Given the description of an element on the screen output the (x, y) to click on. 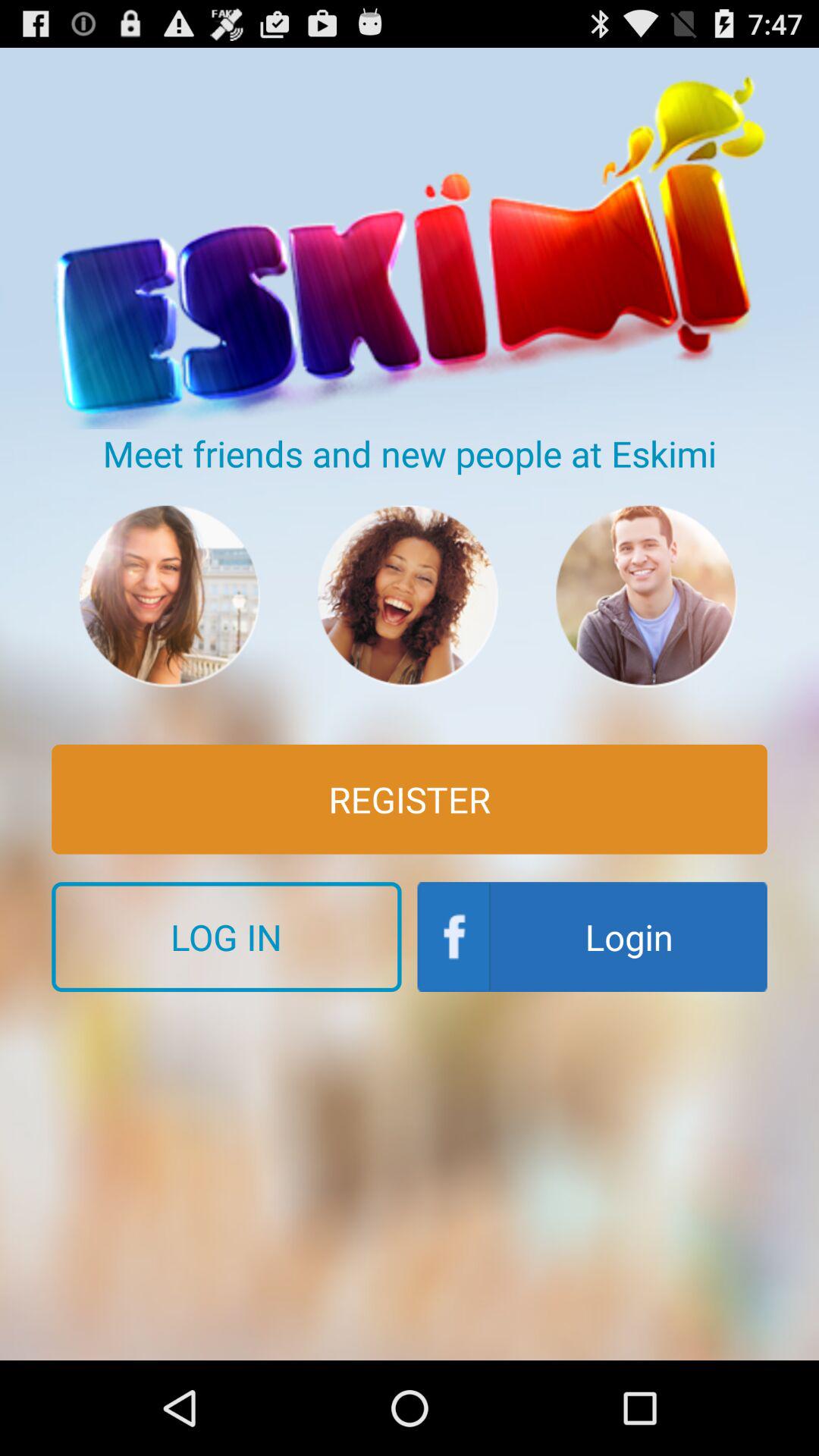
swipe to register item (409, 799)
